Given the description of an element on the screen output the (x, y) to click on. 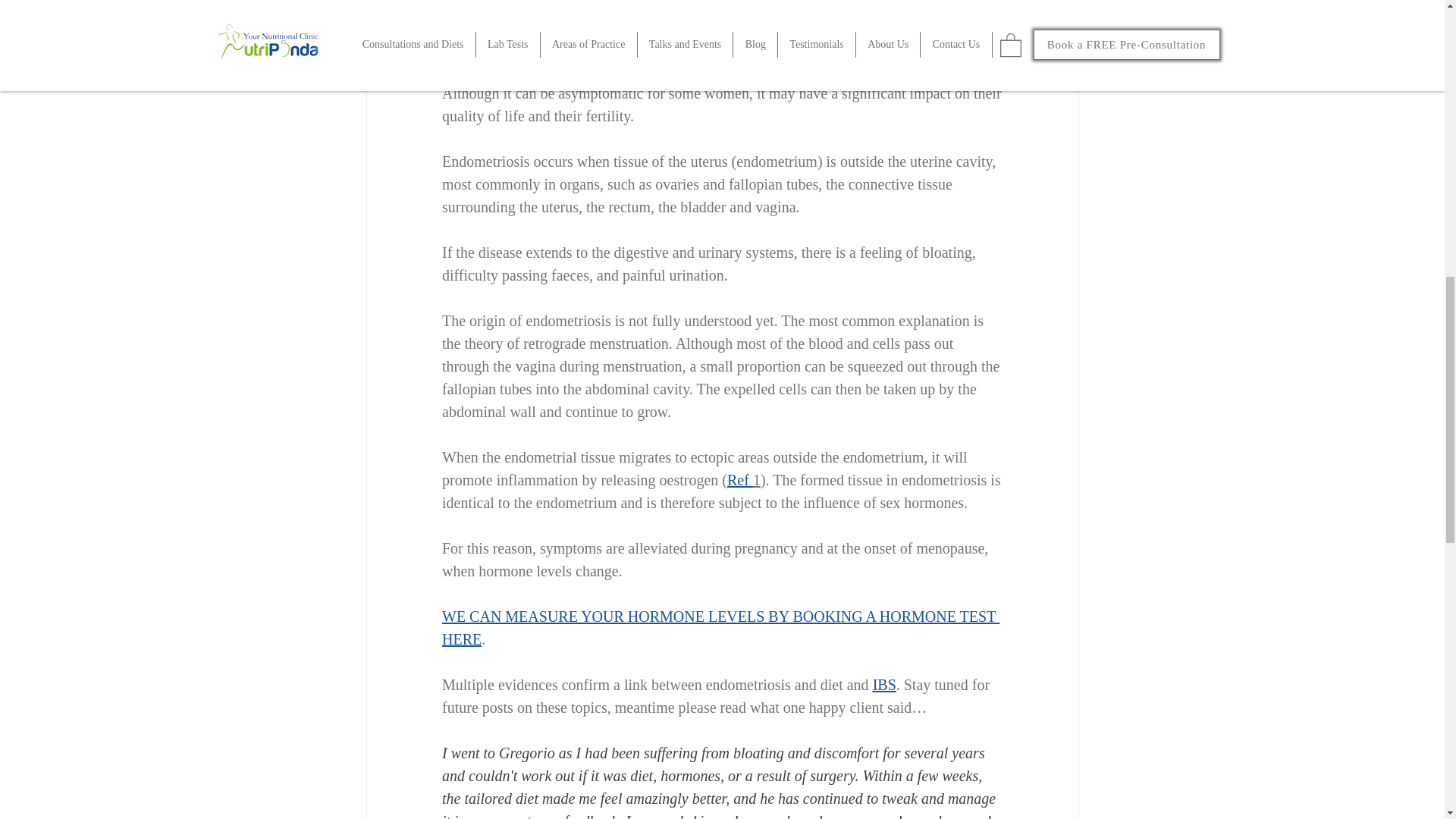
IBS (883, 684)
Ref  (739, 479)
